Given the description of an element on the screen output the (x, y) to click on. 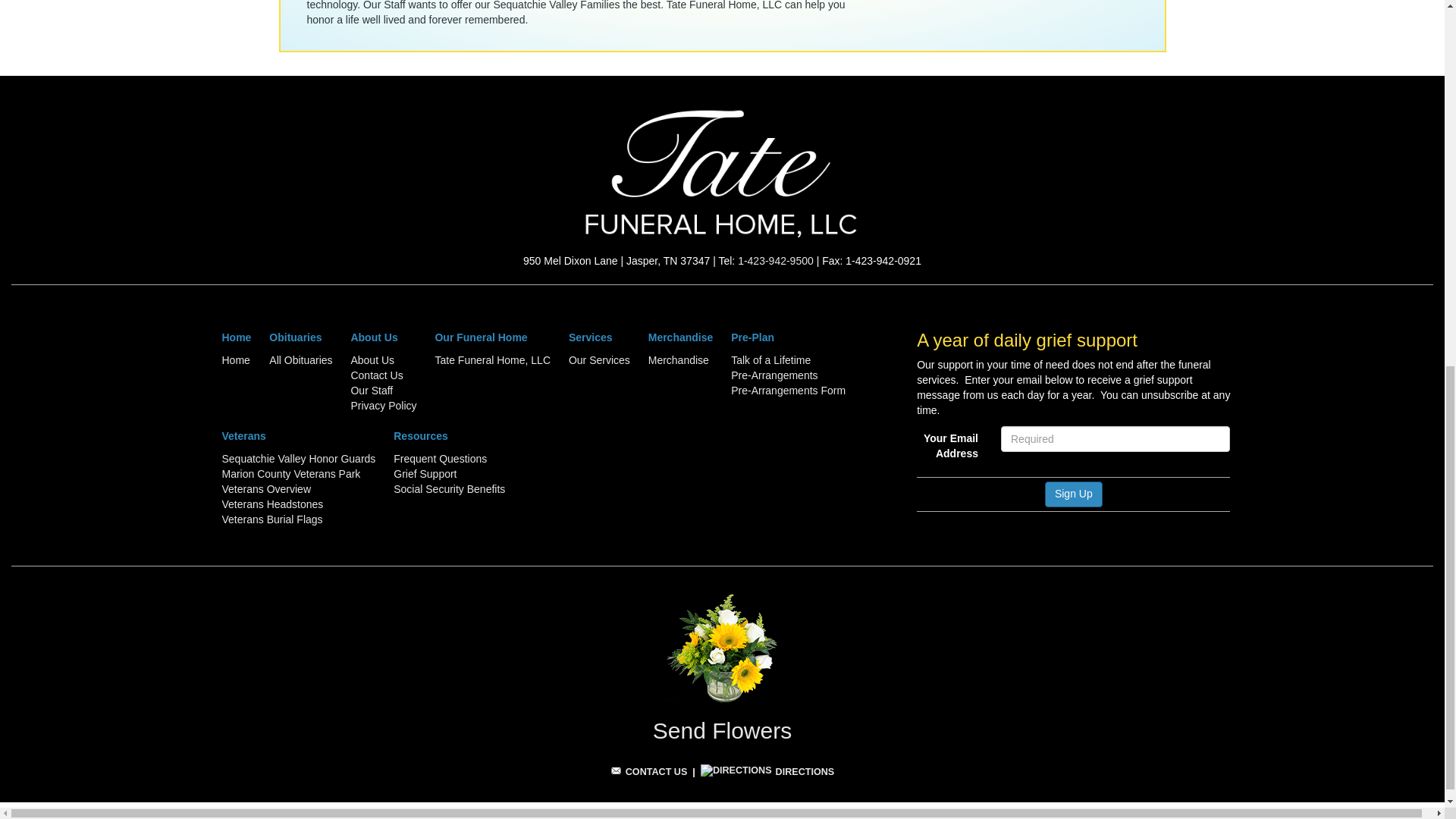
About Us (372, 359)
All Obituaries (300, 359)
Home (234, 359)
1-423-942-9500 (775, 260)
